Given the description of an element on the screen output the (x, y) to click on. 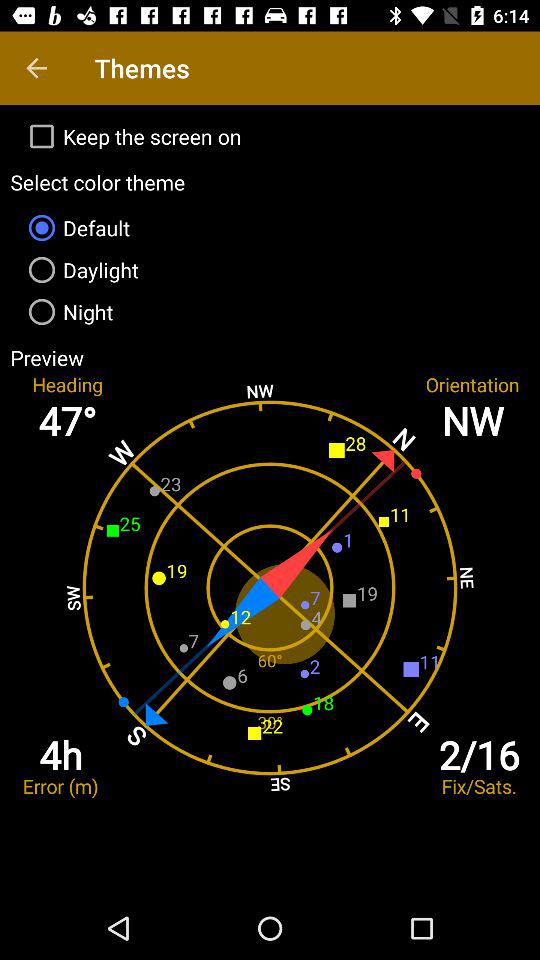
select icon above the select color theme (270, 136)
